Given the description of an element on the screen output the (x, y) to click on. 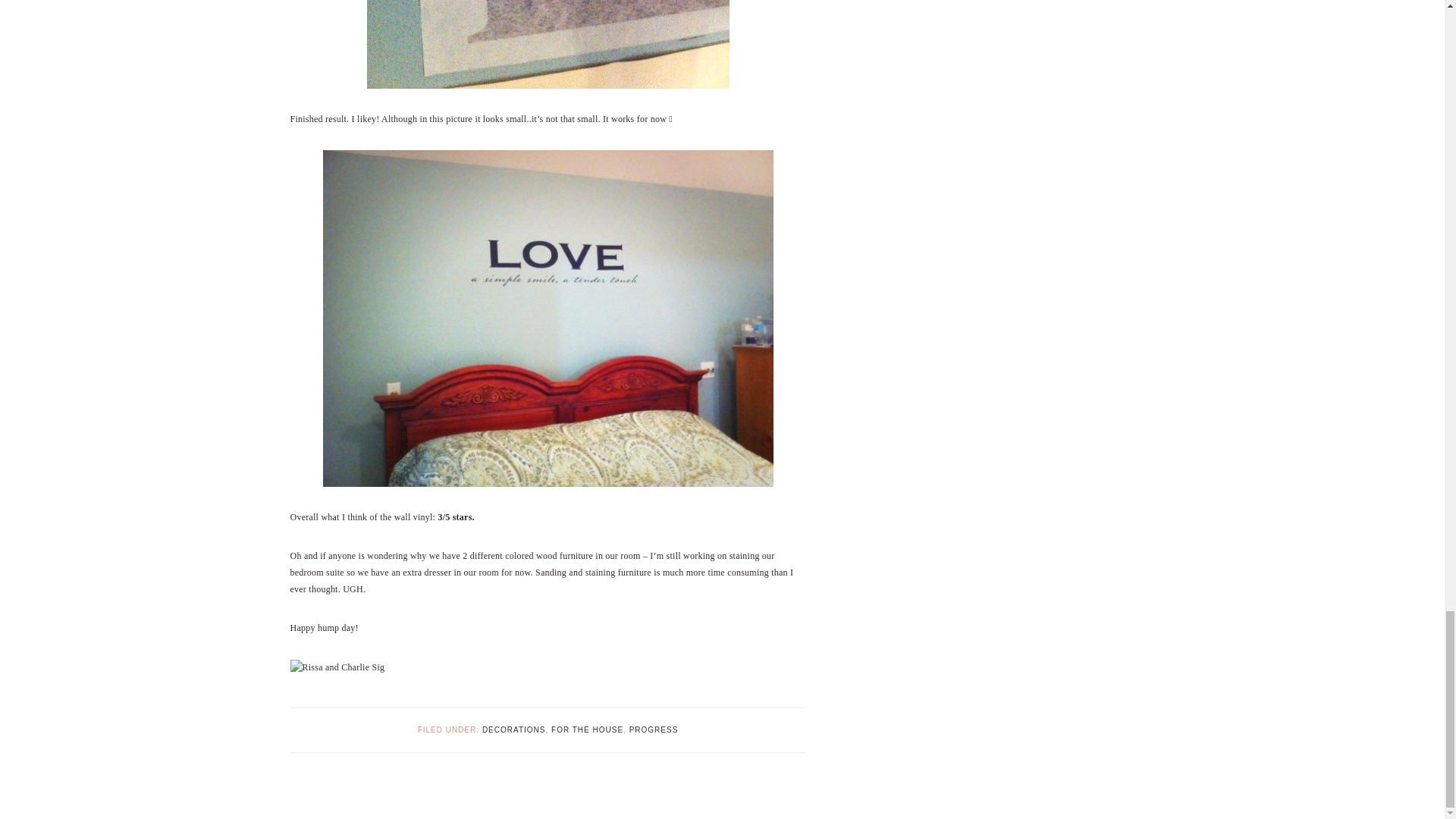
DECORATIONS (513, 729)
FOR THE HOUSE (587, 729)
PROGRESS (653, 729)
